Given the description of an element on the screen output the (x, y) to click on. 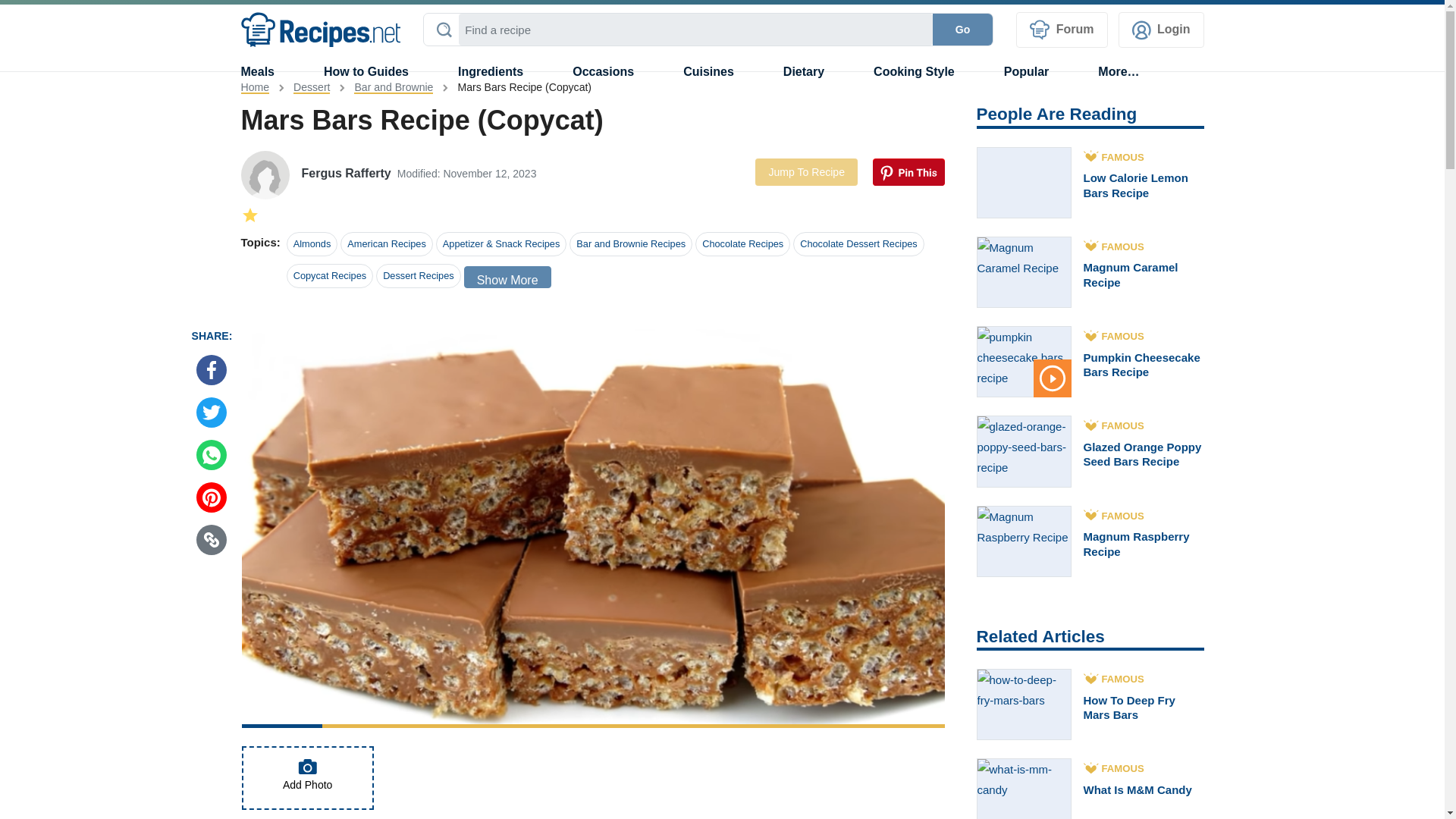
Copy to Clipboard (211, 539)
Share on Twitter (211, 412)
Share on WhatsApp (211, 454)
Forum (1061, 29)
How to Guides (366, 71)
Share on Pinterest (211, 497)
Share on Pinterest (908, 171)
Jump To Recipe (806, 171)
Share on Facebook (211, 369)
Login (1161, 29)
Go (962, 29)
Ingredients (490, 71)
Recipes.net Recipes.net logo (321, 28)
Recipes.net Recipes.net logo (320, 29)
